Given the description of an element on the screen output the (x, y) to click on. 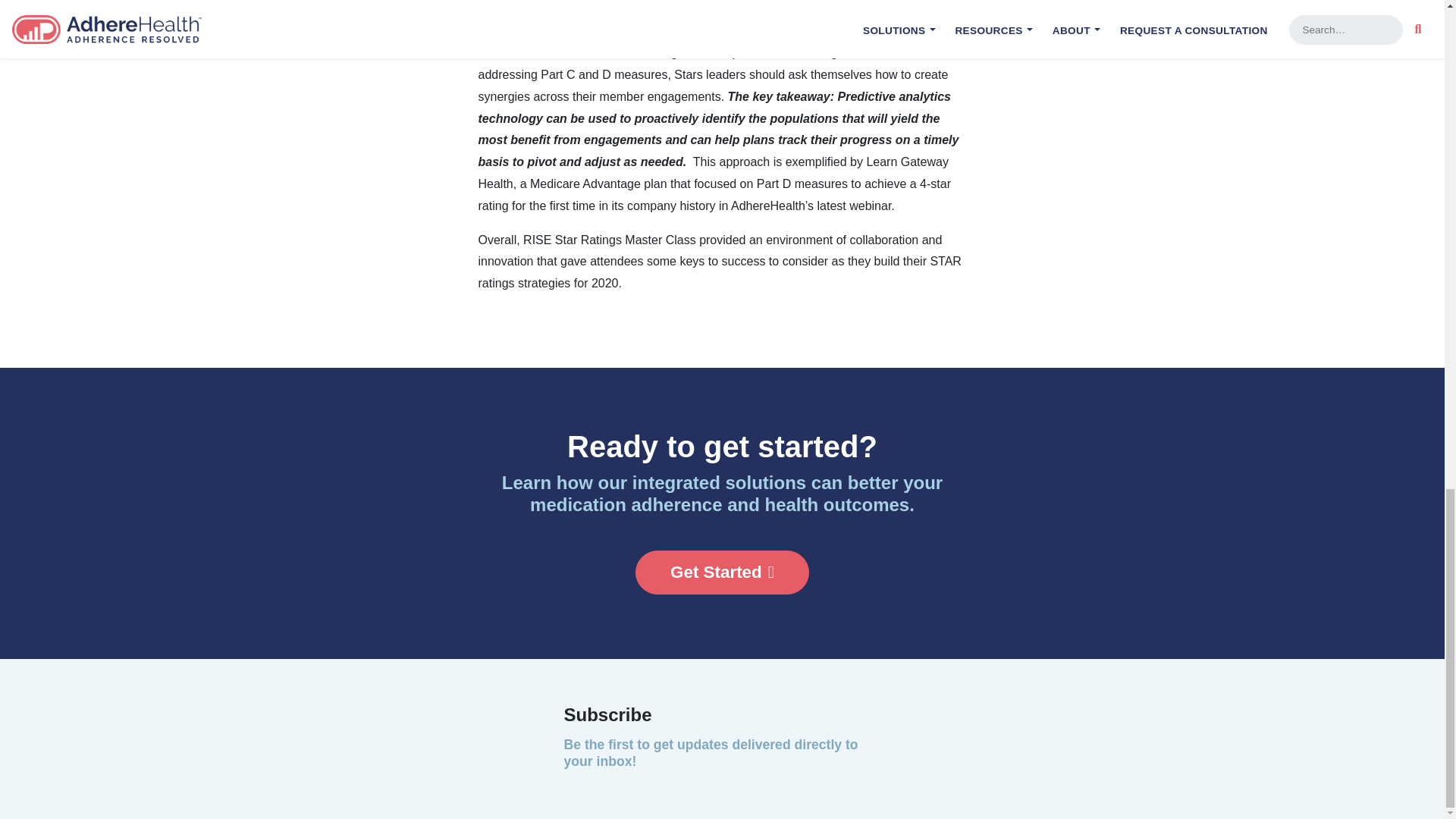
Get Started (721, 572)
